Given the description of an element on the screen output the (x, y) to click on. 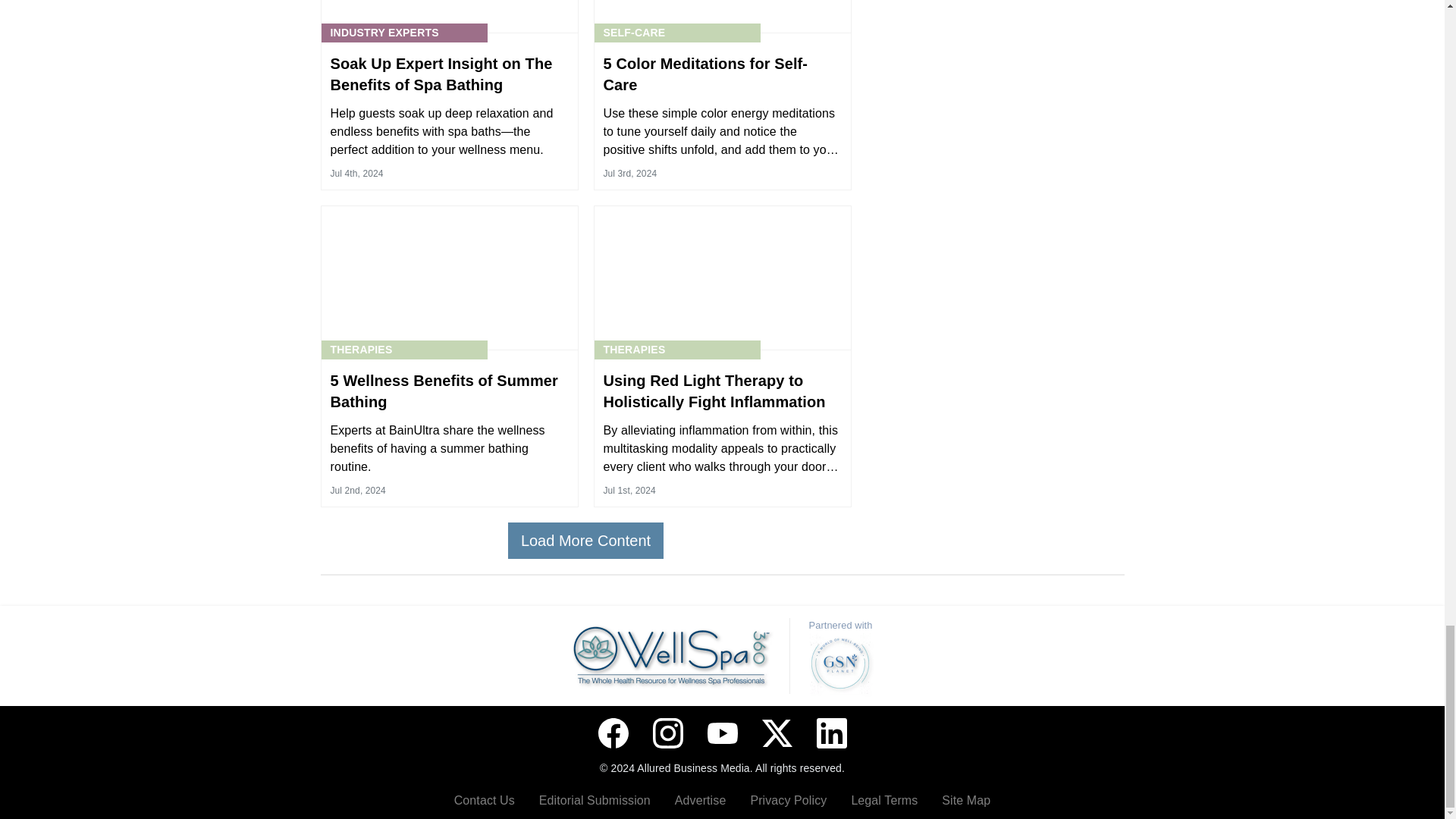
Twitter X icon (776, 733)
YouTube icon (721, 733)
Facebook icon (611, 733)
Instagram icon (667, 733)
